Given the description of an element on the screen output the (x, y) to click on. 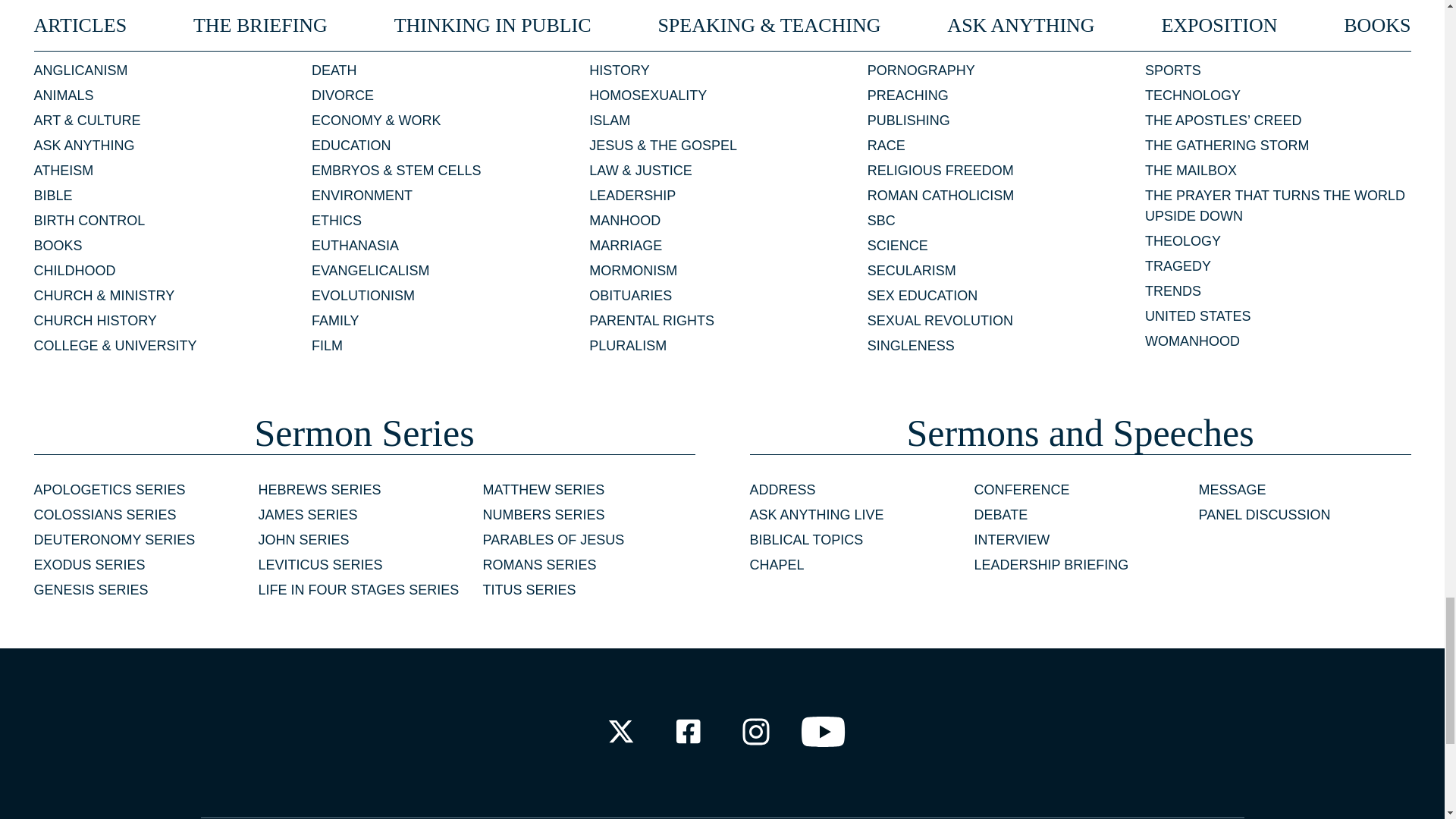
Check out our Youtube Channel (822, 731)
Check out our Facebook Profile (687, 731)
Check out our X Profile (620, 731)
Check out our Instagram Profile (755, 731)
